Given the description of an element on the screen output the (x, y) to click on. 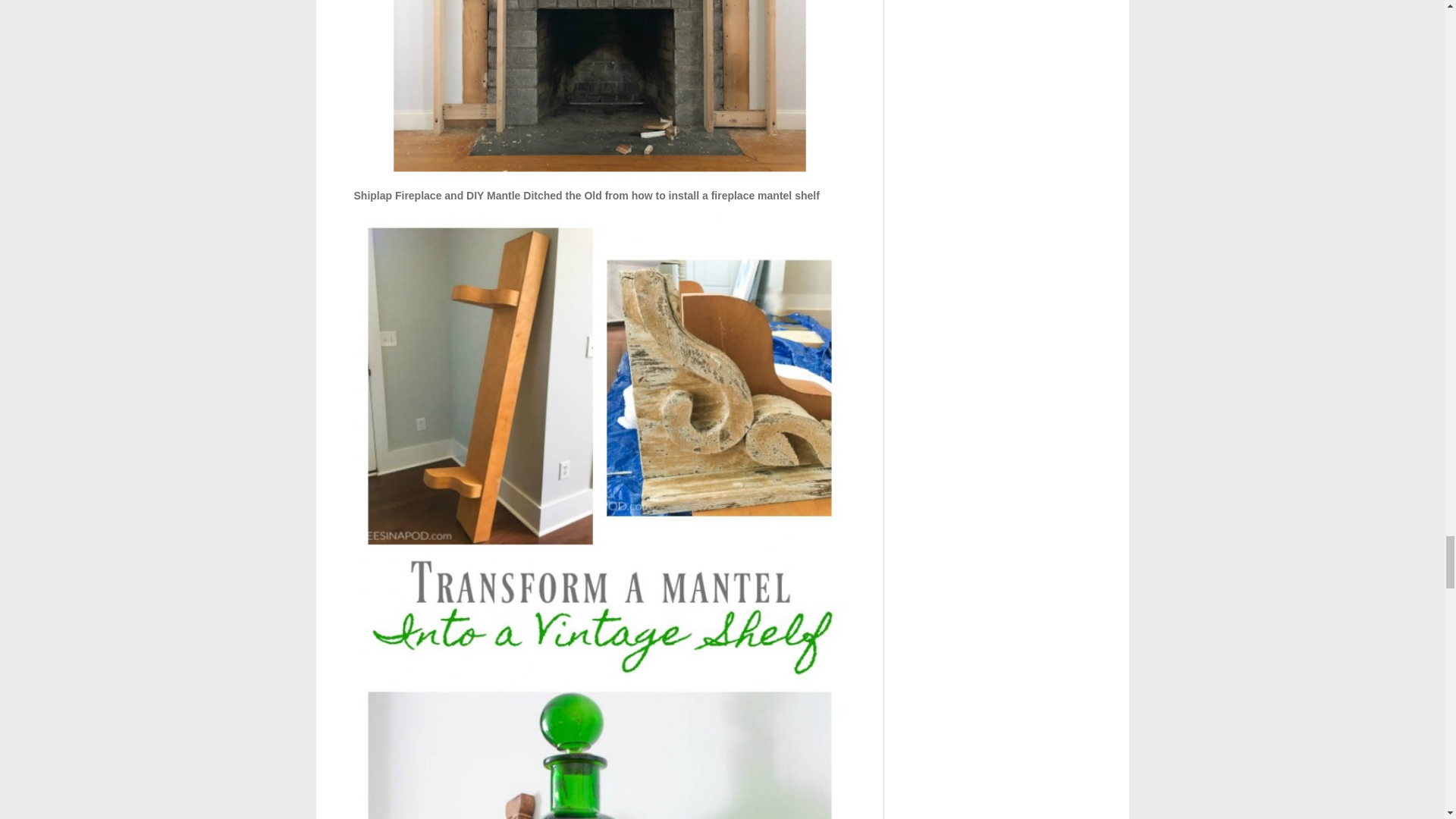
Shiplap Fireplace and DIY Mantle Ditched the Old (598, 90)
